Given the description of an element on the screen output the (x, y) to click on. 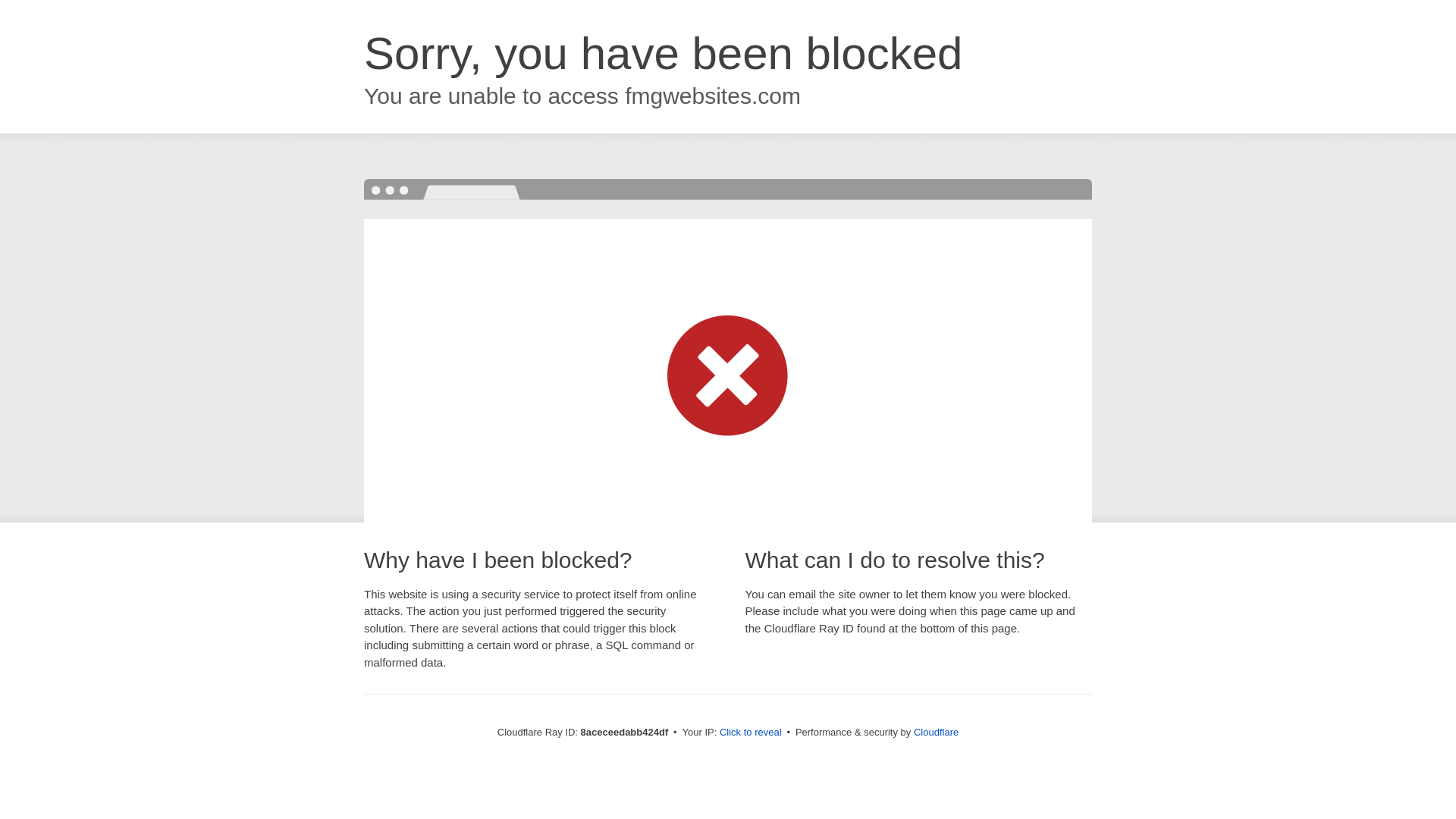
Cloudflare (936, 731)
Click to reveal (750, 732)
